Given the description of an element on the screen output the (x, y) to click on. 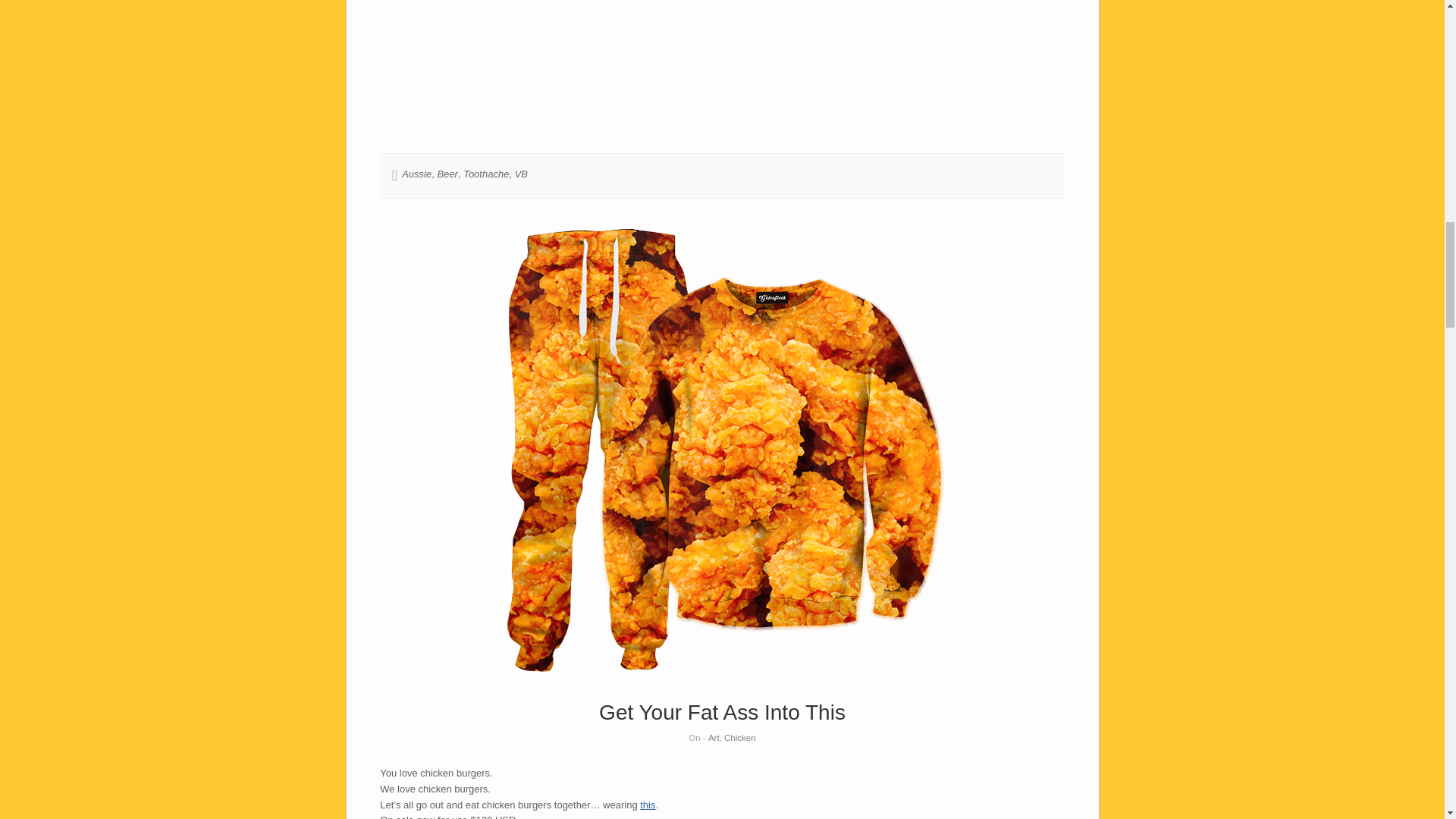
Beer (446, 173)
Toothache (485, 173)
VB (521, 173)
Art (713, 737)
Get Your Fat Ass Into This (721, 712)
Chicken (739, 737)
this (647, 804)
Aussie (415, 173)
